Given the description of an element on the screen output the (x, y) to click on. 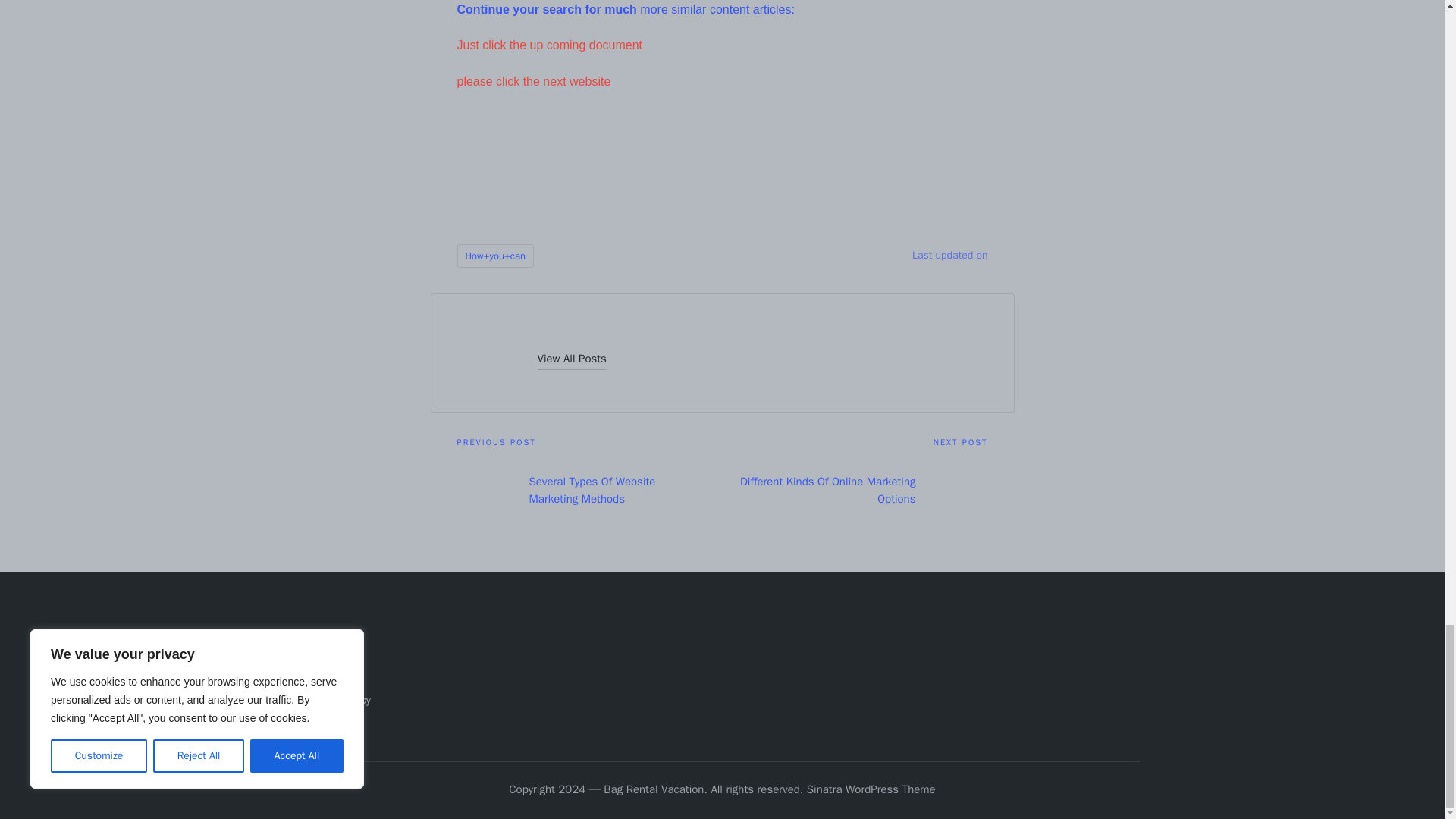
View All Posts (571, 358)
Several Types Of Website Marketing Methods (589, 489)
Just click the up coming document (549, 44)
Different Kinds Of Online Marketing Options (854, 489)
About (318, 649)
Contact (323, 674)
Sinatra WordPress Theme (871, 790)
please click the next website (533, 81)
Privacy Policy (337, 699)
